Given the description of an element on the screen output the (x, y) to click on. 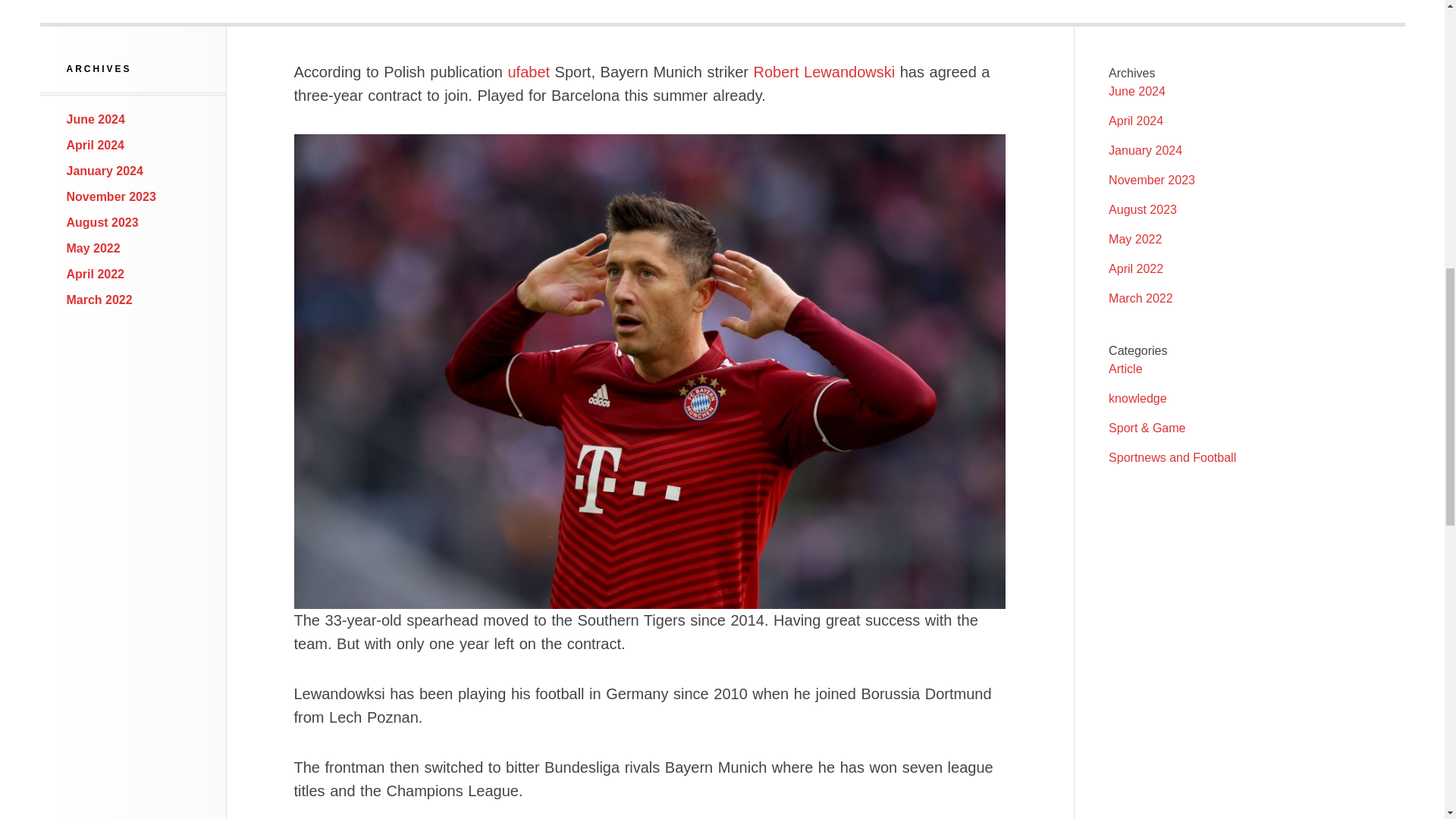
May 2022 (1134, 238)
August 2023 (1142, 209)
May 2022 (93, 247)
April 2024 (1135, 120)
June 2024 (95, 119)
January 2024 (1145, 150)
April 2022 (1135, 268)
November 2023 (110, 196)
August 2023 (102, 222)
November 2023 (1151, 179)
March 2022 (99, 299)
June 2024 (1137, 91)
Robert Lewandowski (824, 71)
January 2024 (104, 170)
ufabet (528, 71)
